Given the description of an element on the screen output the (x, y) to click on. 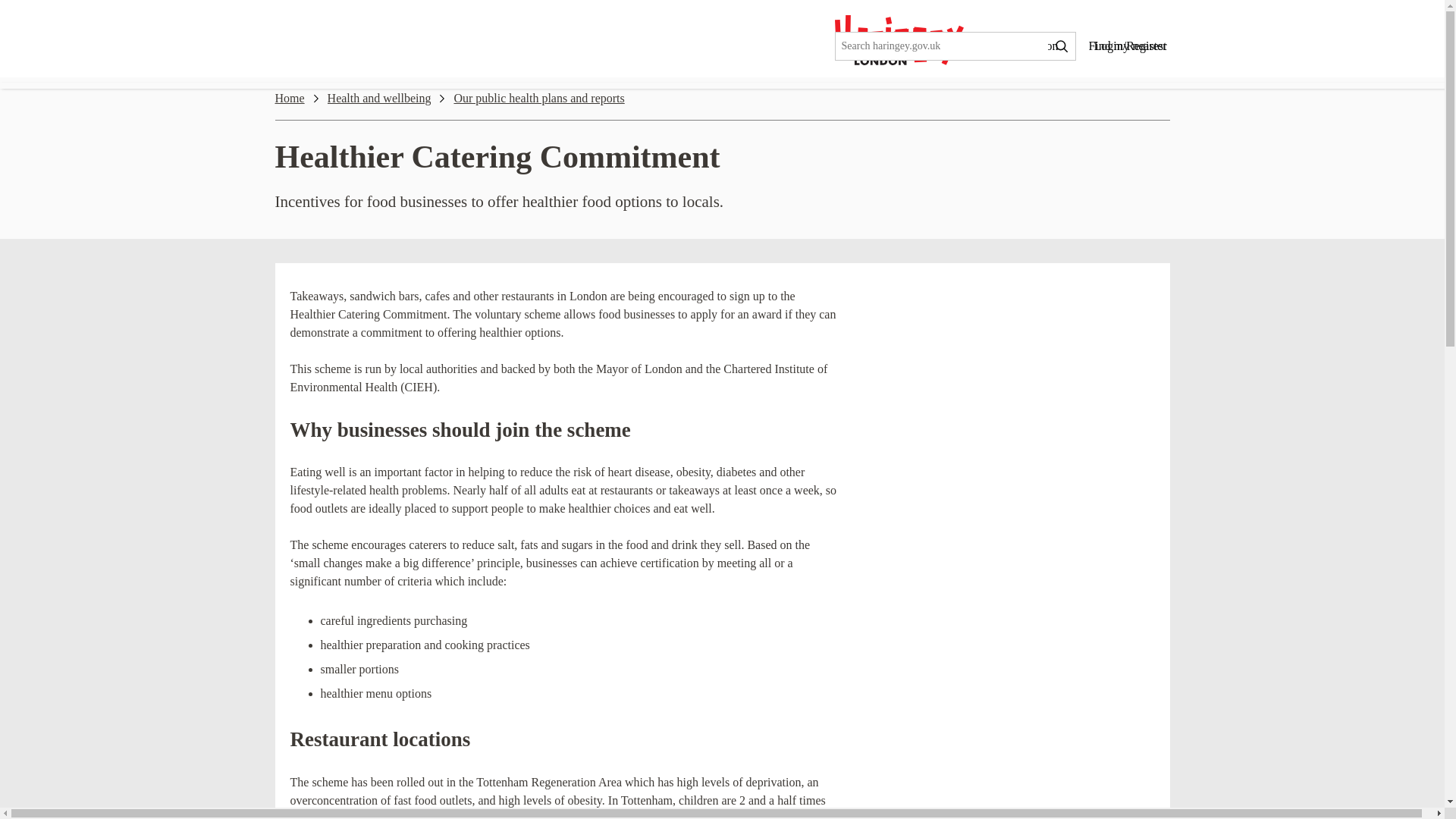
Find my nearest (1126, 45)
News (965, 45)
Health and wellbeing (378, 98)
What's on (1034, 45)
Our public health plans and reports (538, 98)
Enter the terms you wish to search for. (941, 45)
Home (289, 98)
Skip to main content (12, 12)
Search (1061, 45)
Services (892, 45)
